Given the description of an element on the screen output the (x, y) to click on. 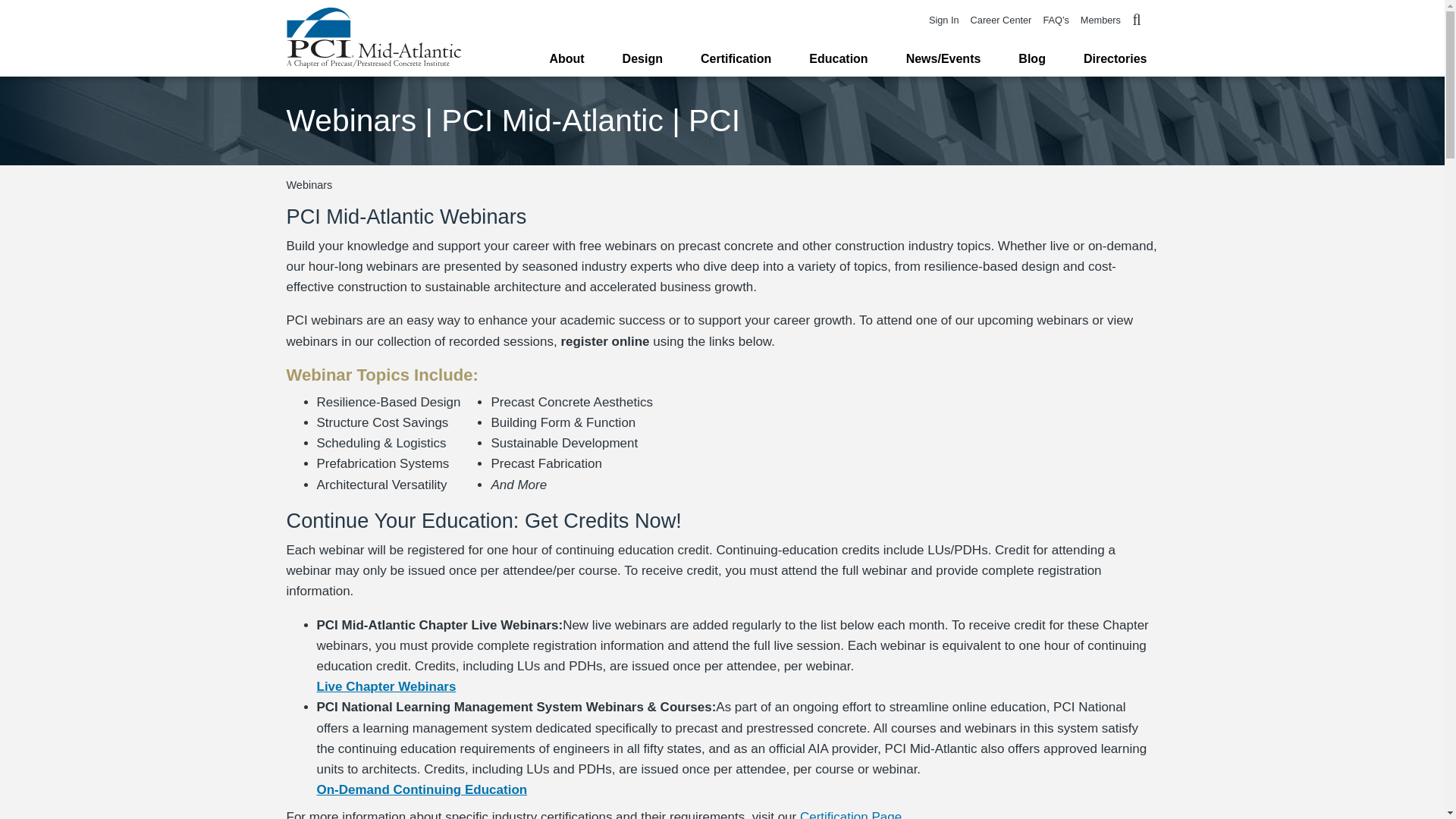
Sign In (943, 20)
Certification (735, 58)
Live Chapter Webinars (387, 686)
Blog (1032, 58)
PCI Mid Atlantic (373, 37)
Career Center (999, 20)
Directories (1114, 58)
About (566, 58)
Home (373, 37)
On-Demand Continuing Education (422, 789)
Education (838, 58)
Certification Page (850, 814)
Design (642, 58)
Members (1099, 20)
